Given the description of an element on the screen output the (x, y) to click on. 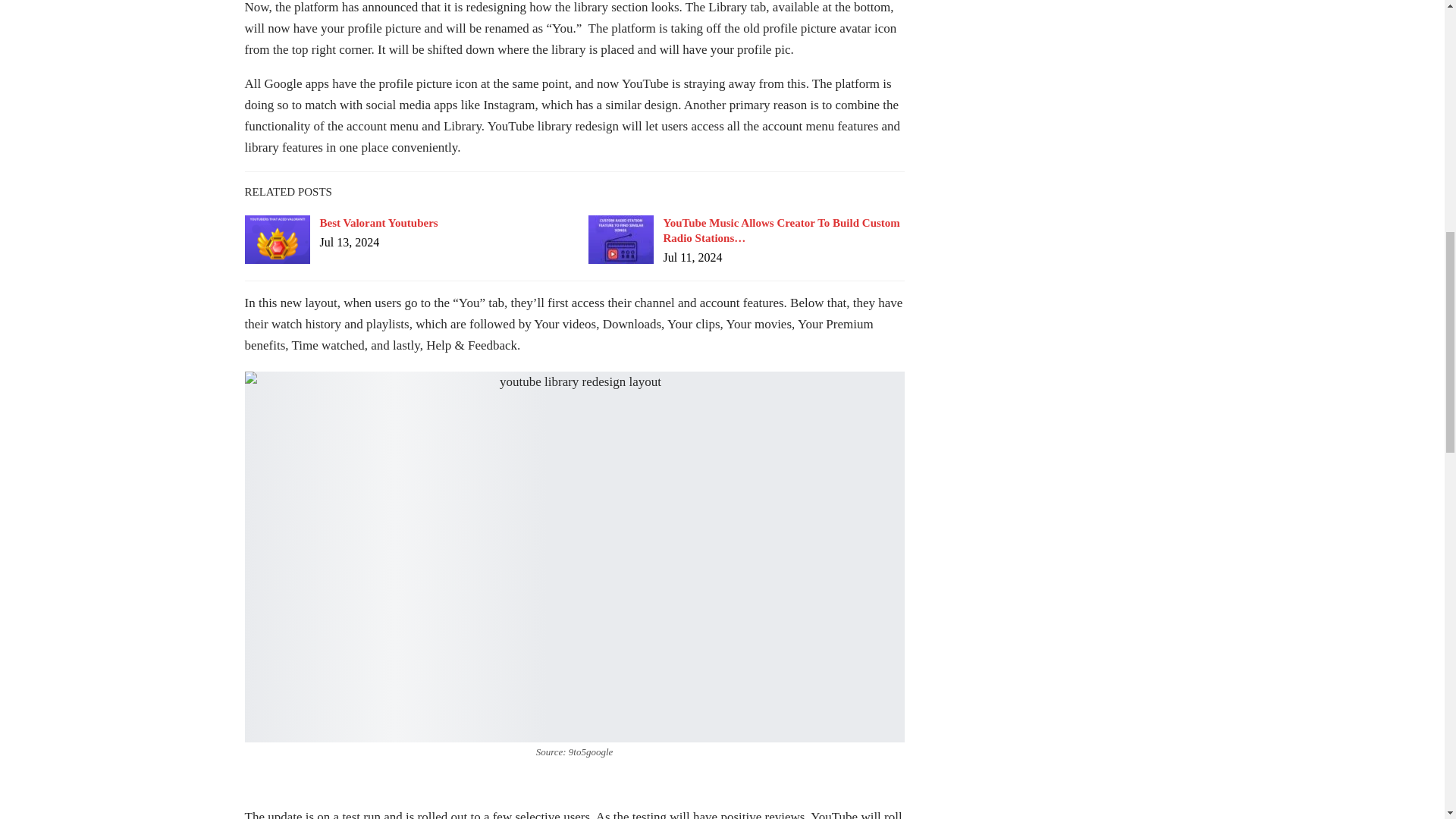
Best Valorant Youtubers (276, 239)
Best Valorant Youtubers (379, 223)
